Given the description of an element on the screen output the (x, y) to click on. 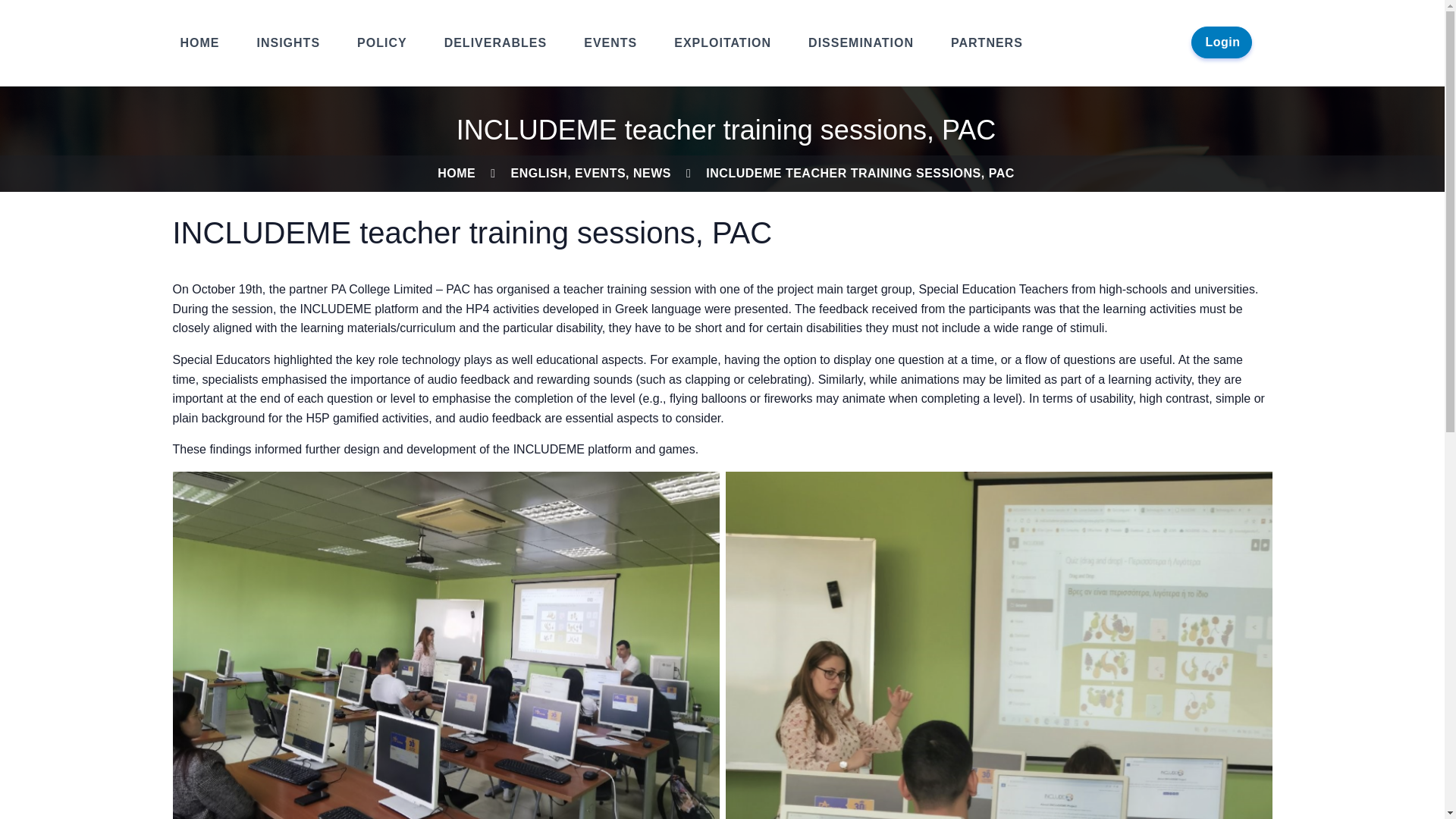
EXPLOITATION (724, 43)
Login (1222, 42)
ENGLISH (539, 173)
EVENTS (600, 173)
POLICY (383, 43)
HOME (457, 173)
NEWS (652, 173)
EVENTS (611, 43)
PARTNERS (988, 43)
DELIVERABLES (497, 43)
HOME (202, 43)
DISSEMINATION (862, 43)
INSIGHTS (289, 43)
